Given the description of an element on the screen output the (x, y) to click on. 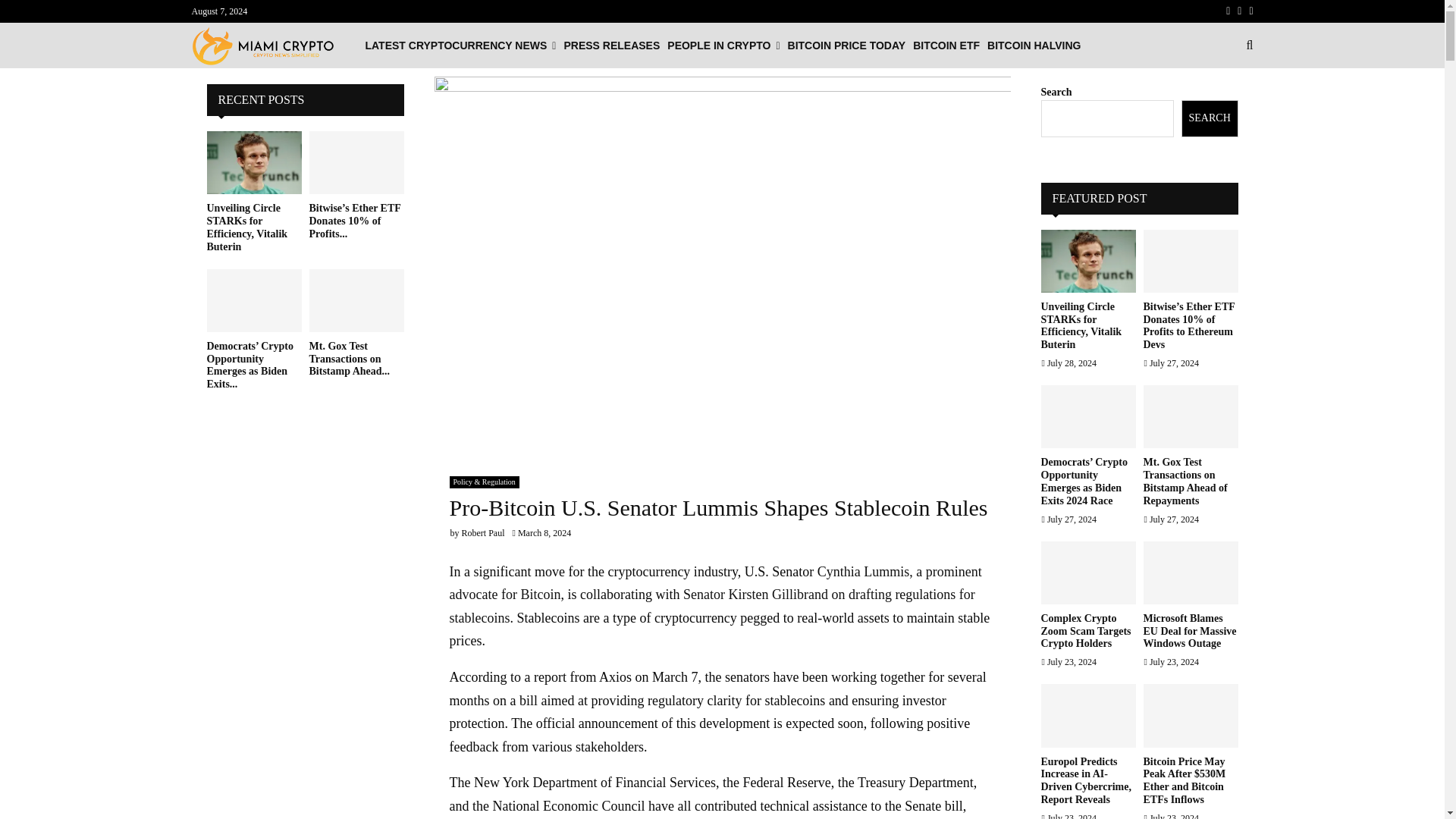
LATEST CRYPTOCURRENCY NEWS (460, 44)
Unveiling Circle STARKs for Efficiency, Vitalik Buterin (253, 162)
Cynthia Lummis, a prominent advocate for Bitcoin (714, 583)
BITCOIN PRICE TODAY (846, 44)
PEOPLE IN CRYPTO (722, 44)
Robert Paul (482, 532)
BITCOIN ETF (945, 44)
 Unveiling Circle STARKs for Efficiency, Vitalik Buterin  (246, 226)
PRESS RELEASES (611, 44)
BITCOIN HALVING (1033, 44)
